Given the description of an element on the screen output the (x, y) to click on. 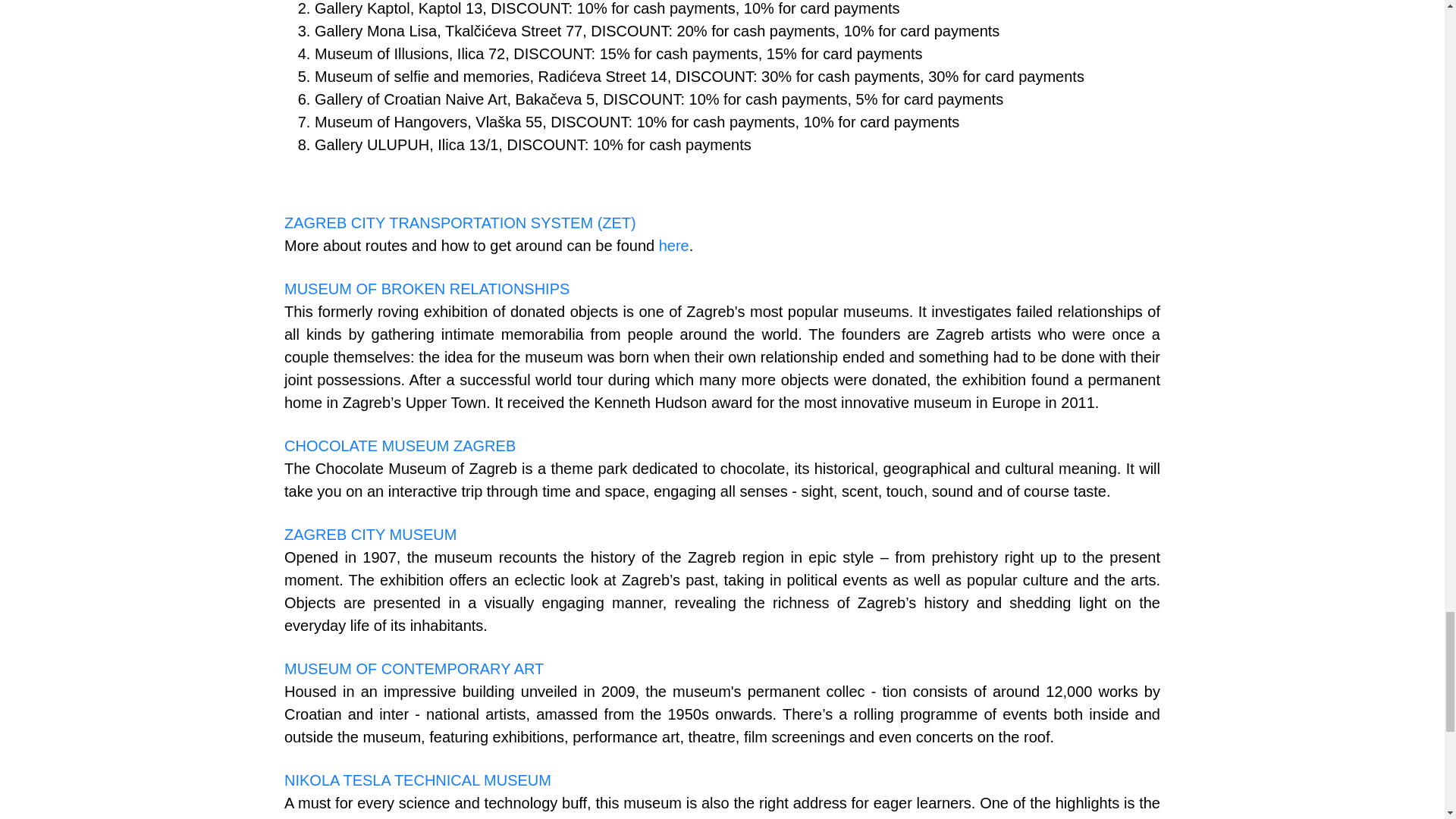
MUSEUM OF BROKEN RELATIONSHIPS (426, 288)
MUSEUM OF CONTEMPORARY ART (413, 668)
NIKOLA TESLA TECHNICAL MUSEUM (417, 780)
CHOCOLATE MUSEUM ZAGREB (399, 445)
here (673, 245)
ZAGREB CITY MUSEUM (370, 534)
